Given the description of an element on the screen output the (x, y) to click on. 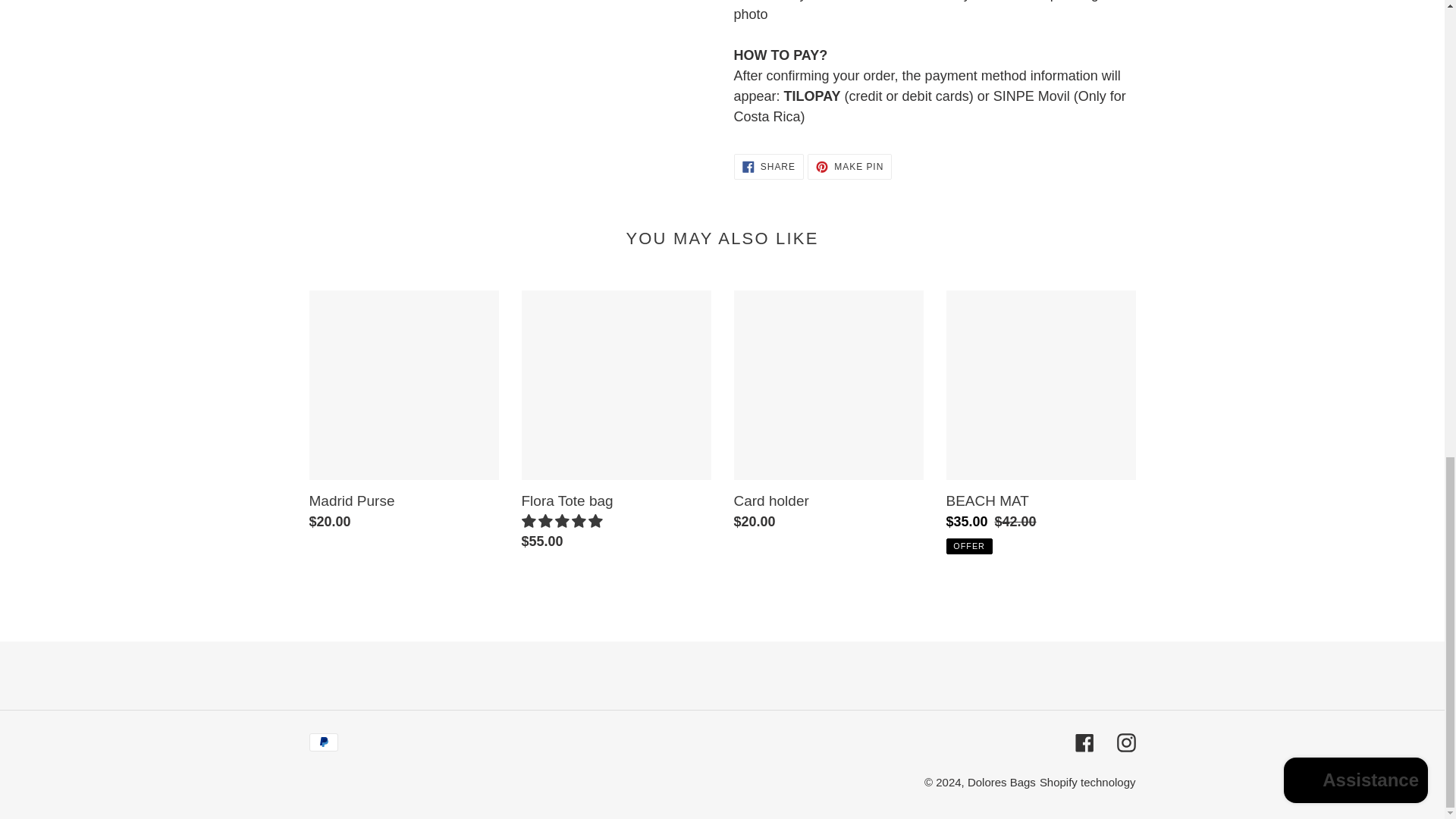
Facebook (1084, 742)
